Given the description of an element on the screen output the (x, y) to click on. 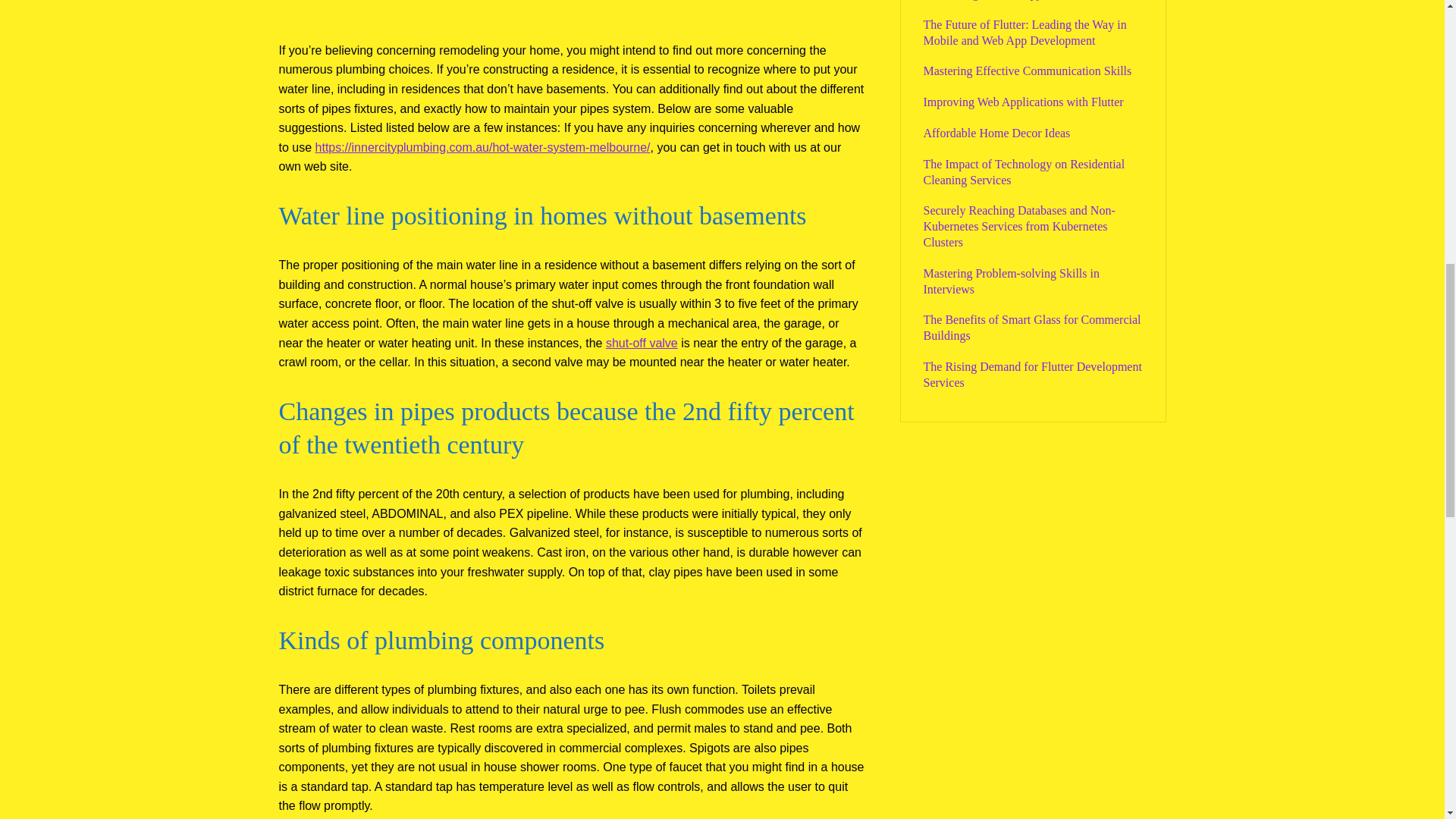
shut-off valve (641, 342)
Mastering Effective Communication Skills (1027, 70)
Improving Web Applications with Flutter (1023, 101)
Affordable Home Decor Ideas (996, 132)
The Impact of Technology on Residential Cleaning Services (1024, 172)
